Given the description of an element on the screen output the (x, y) to click on. 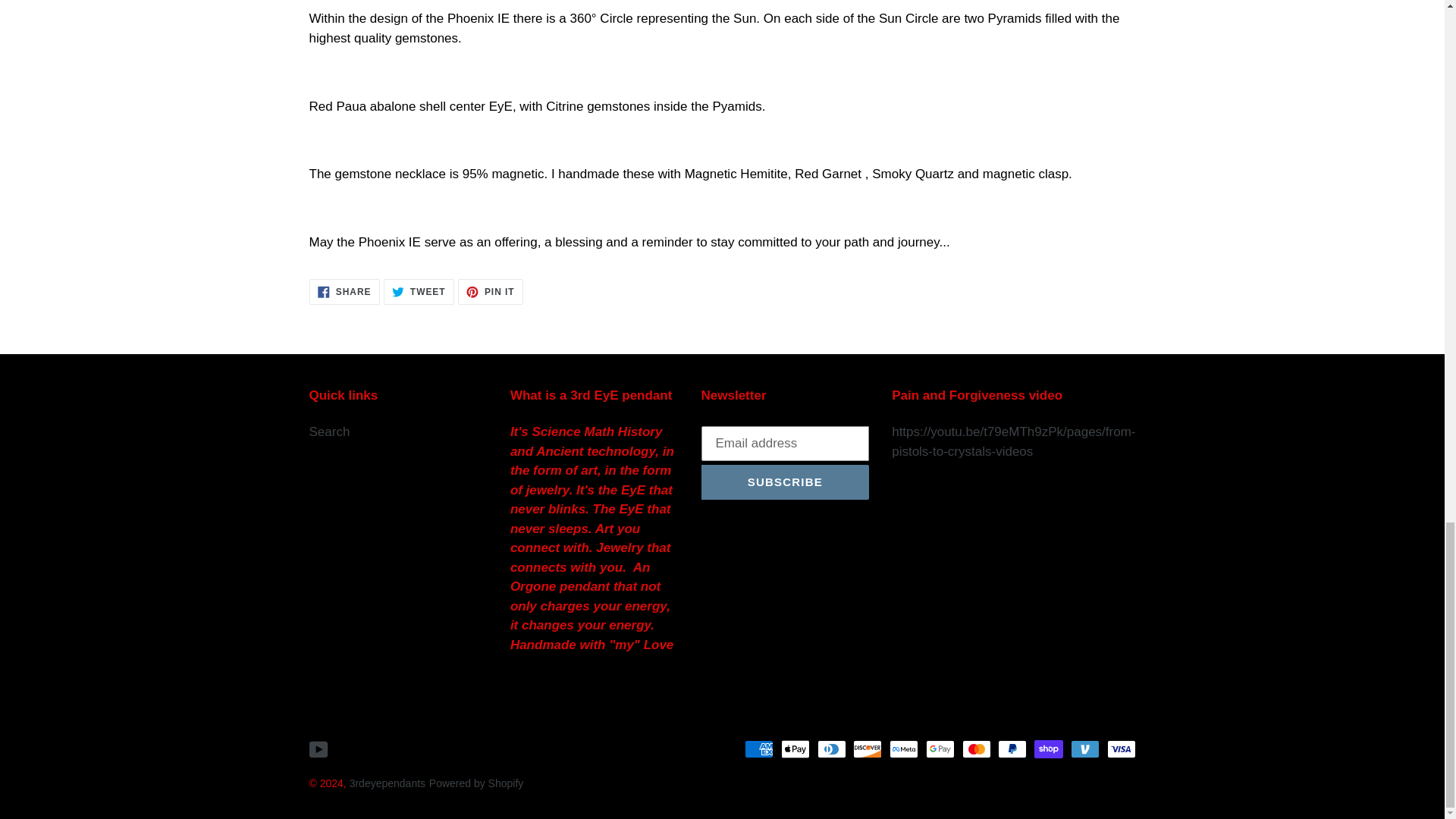
From Pistols to Crystals videos (1013, 441)
From Pistols to Crystals videos (976, 431)
